Given the description of an element on the screen output the (x, y) to click on. 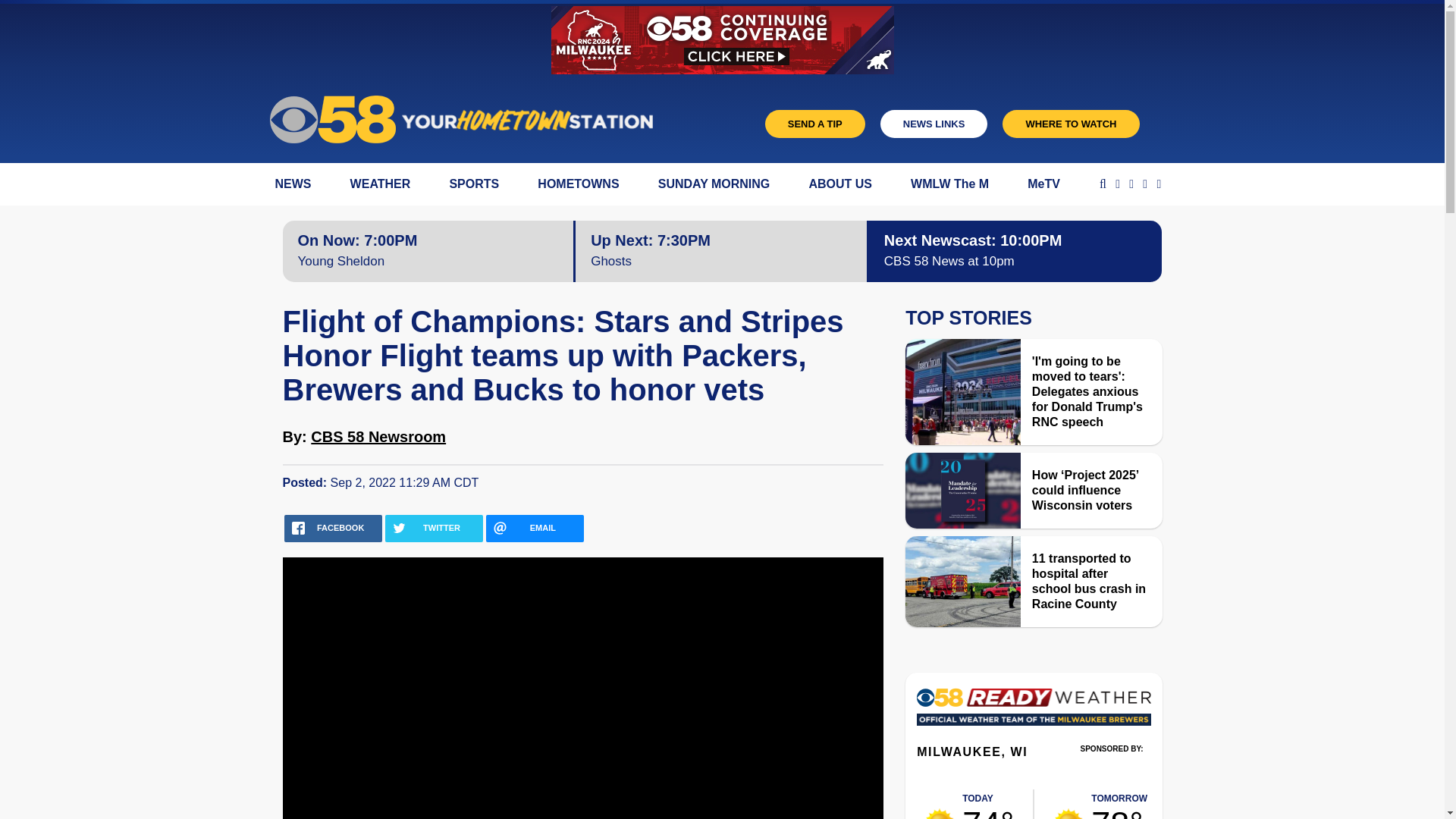
weather (939, 813)
weather (987, 804)
3rd party ad content (1112, 770)
weather (1067, 813)
weather (1118, 804)
Weather (1033, 712)
